Given the description of an element on the screen output the (x, y) to click on. 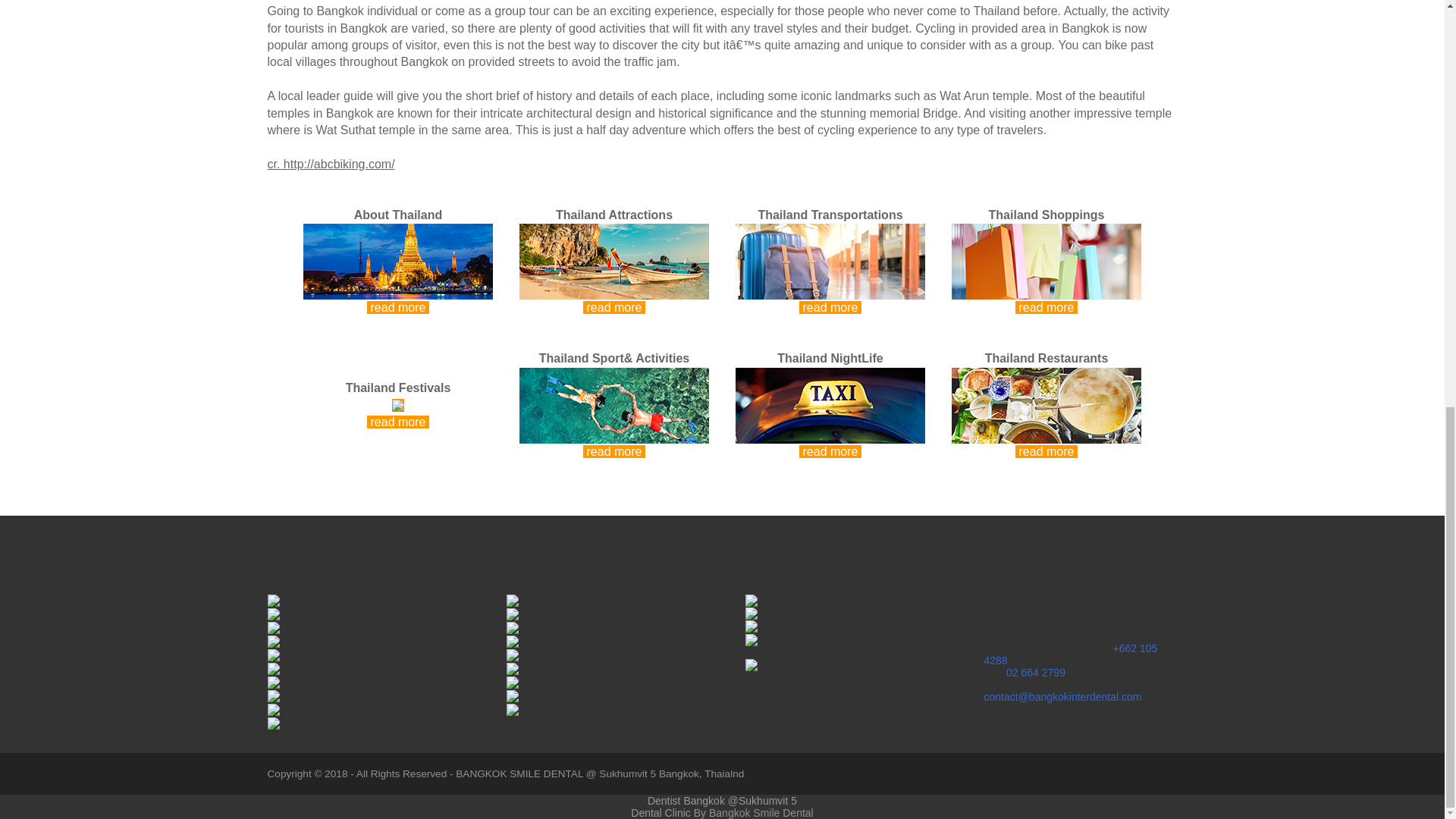
Dental Implants Bangkok (355, 613)
Dental Surgery (325, 681)
Dental Bangkok (566, 640)
Dental Veneers Bangkok (353, 640)
Bangkok Dental Clinic (585, 613)
All on 4 (304, 626)
All on 4 (304, 626)
Dental Crowns (564, 667)
 read more  (1046, 283)
Dental Implants (355, 613)
